Given the description of an element on the screen output the (x, y) to click on. 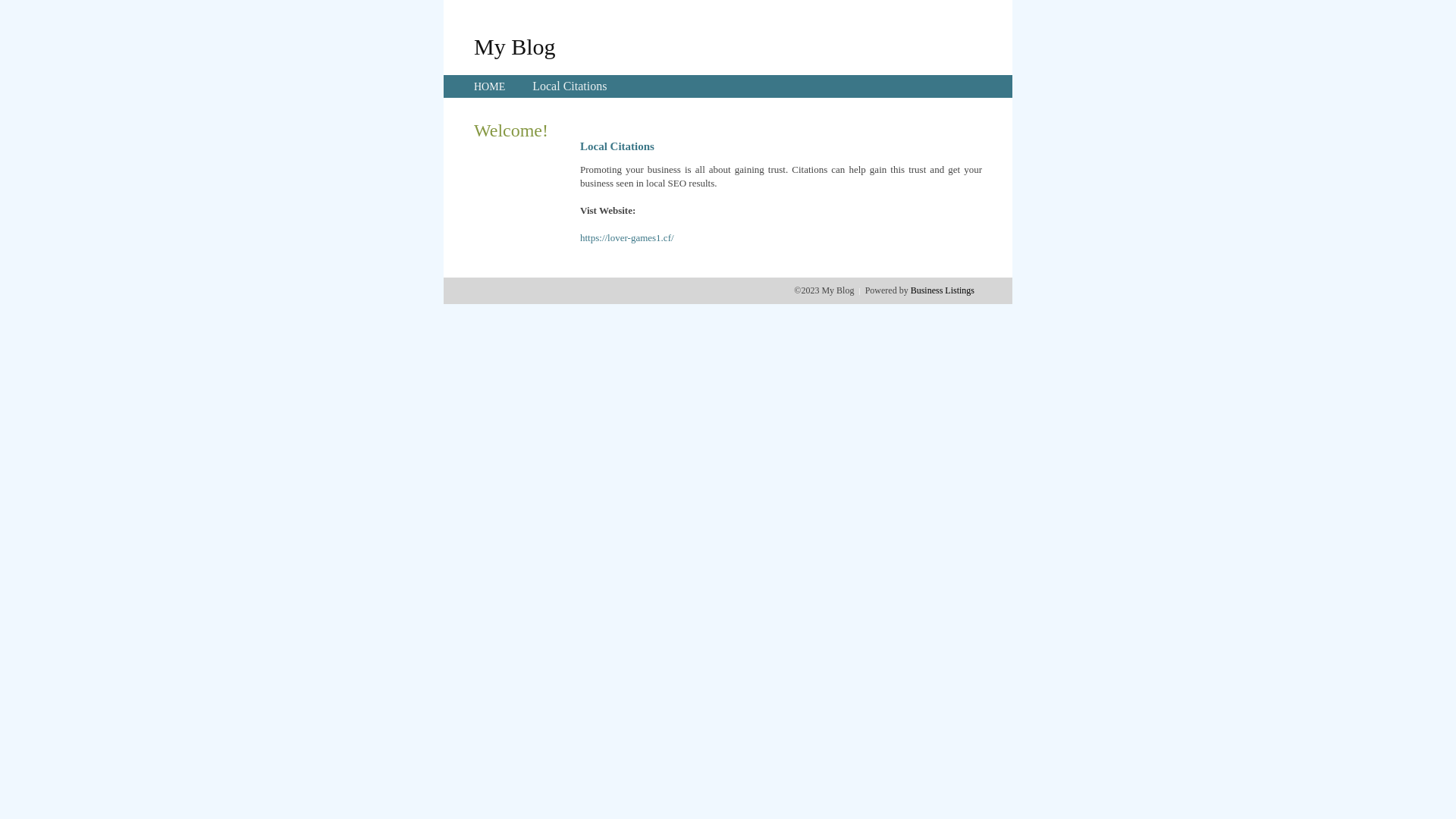
Business Listings Element type: text (942, 290)
HOME Element type: text (489, 86)
My Blog Element type: text (514, 46)
Local Citations Element type: text (569, 85)
https://lover-games1.cf/ Element type: text (627, 237)
